Given the description of an element on the screen output the (x, y) to click on. 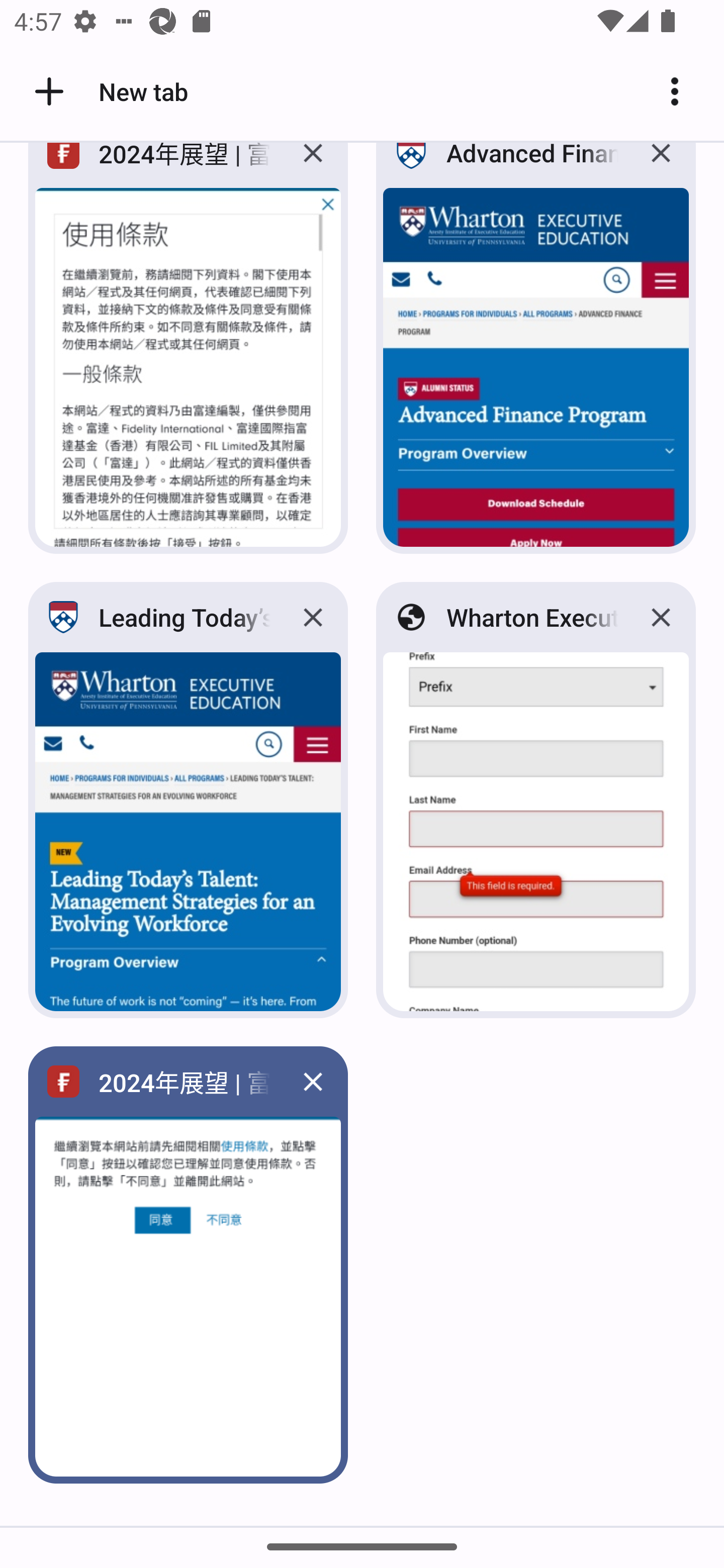
New tab (108, 91)
More options (681, 91)
Close 2024年展望 | 富達香港 tab (312, 167)
Close Wharton Executive Education tab (660, 617)
Close 2024年展望 | 富達香港 tab (312, 1081)
